Given the description of an element on the screen output the (x, y) to click on. 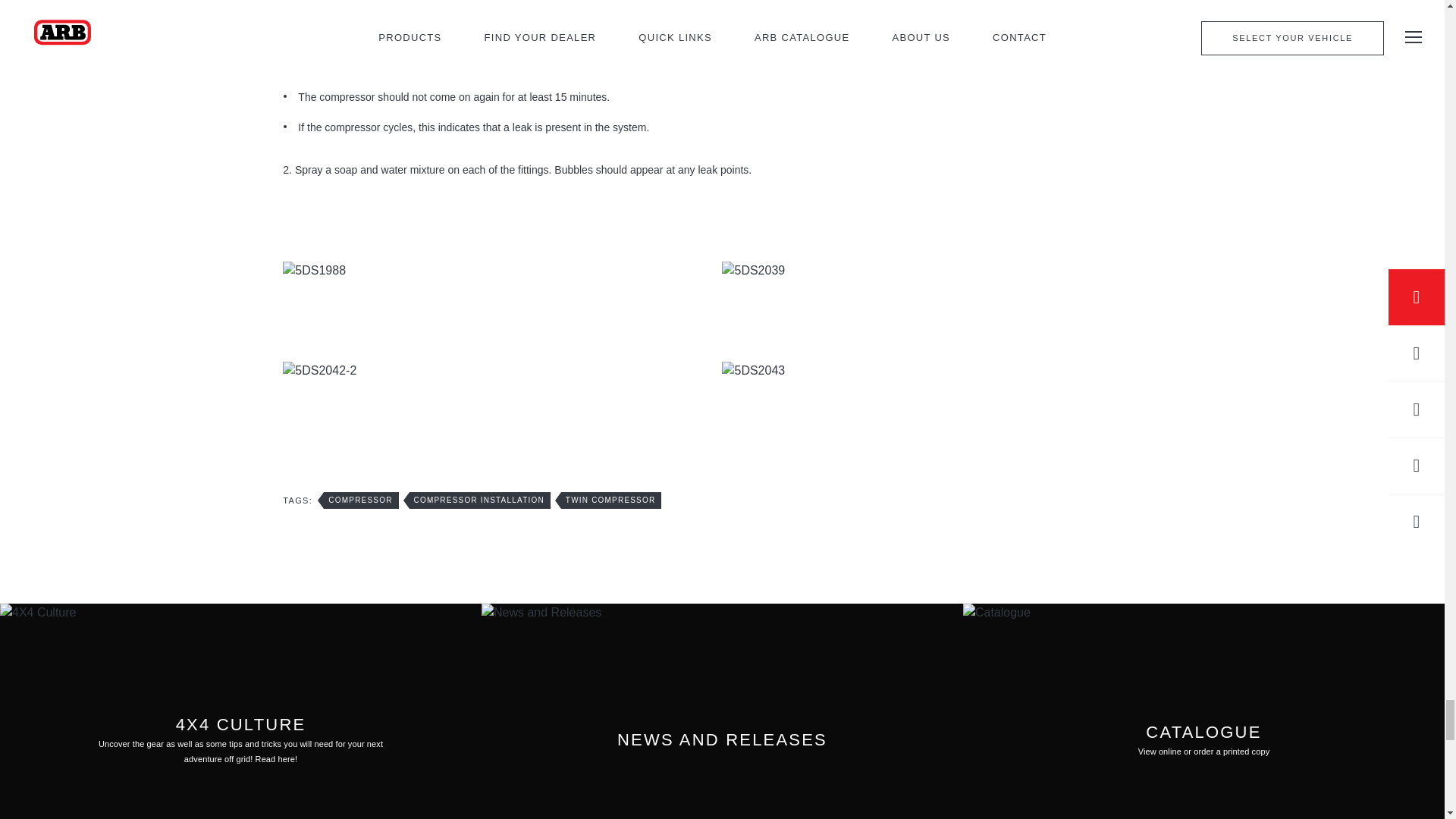
5DS2039 (941, 270)
5DS1988 (502, 270)
4X4 Culture (240, 711)
News and Releases (721, 711)
5DS2043 (941, 370)
5DS2042-2 (502, 370)
